Given the description of an element on the screen output the (x, y) to click on. 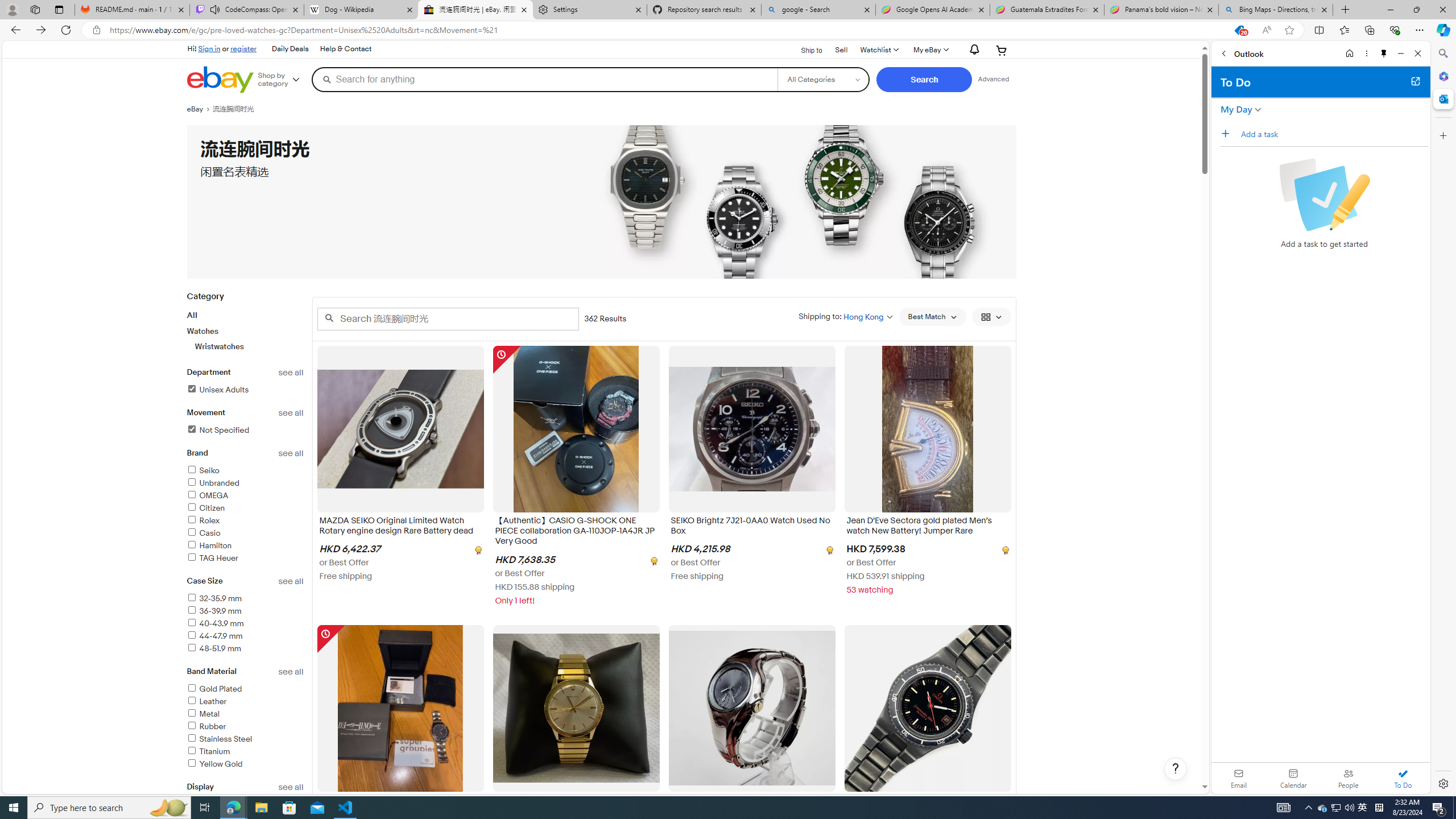
See all display refinements (291, 787)
Sort: Best Match (932, 316)
OMEGA (245, 495)
Add a task (1334, 133)
See all department refinements (291, 372)
Leather (206, 700)
Rolex (245, 520)
CategoryAllWatchesWristwatches (245, 327)
Casio (203, 533)
